Given the description of an element on the screen output the (x, y) to click on. 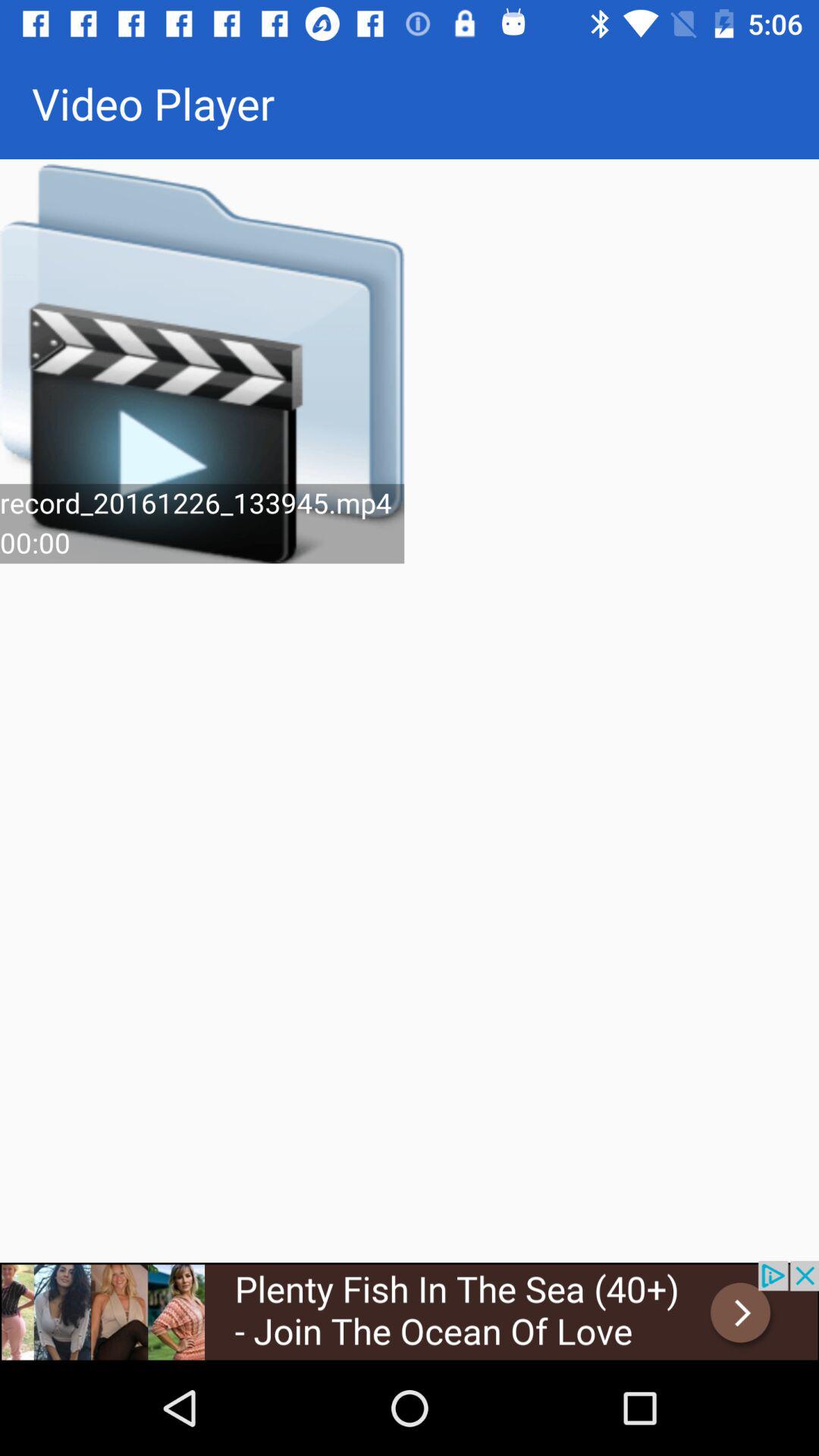
it is a hyperlink to a dating site (409, 1310)
